Given the description of an element on the screen output the (x, y) to click on. 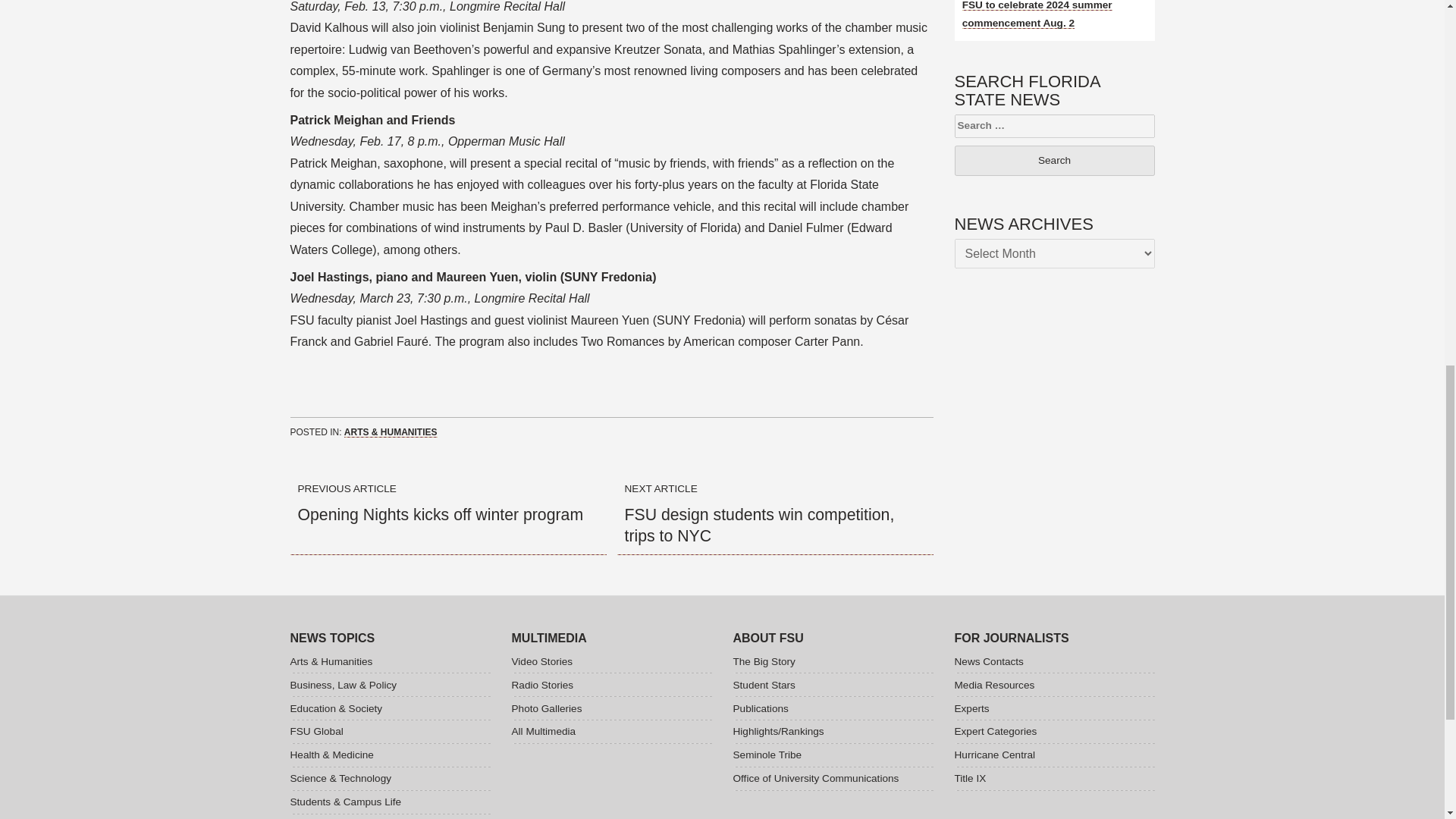
Search (1053, 160)
